Given the description of an element on the screen output the (x, y) to click on. 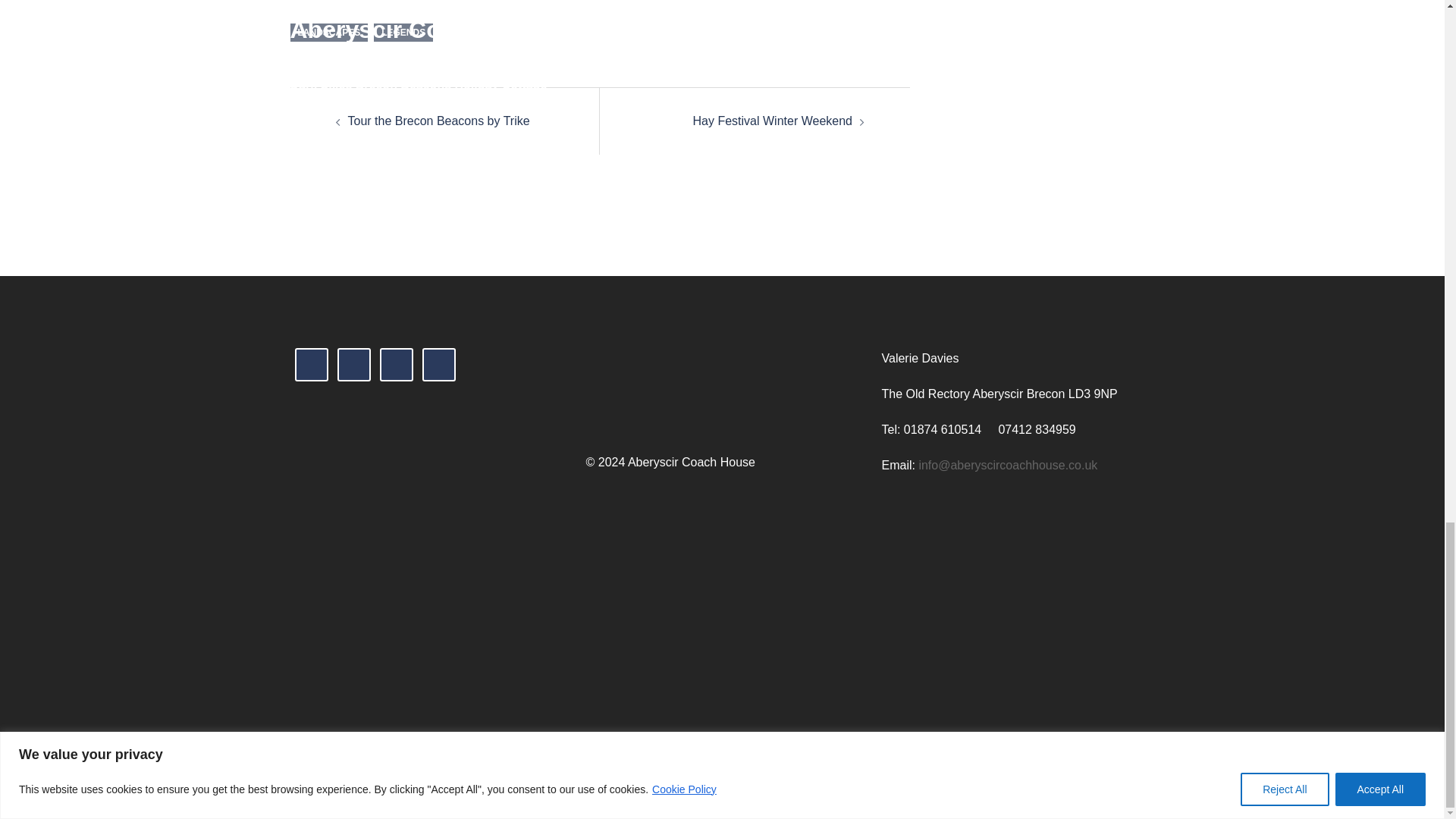
LANDSCAPES (328, 32)
Tour the Brecon Beacons by Trike (438, 120)
LEGENDS (403, 32)
